Given the description of an element on the screen output the (x, y) to click on. 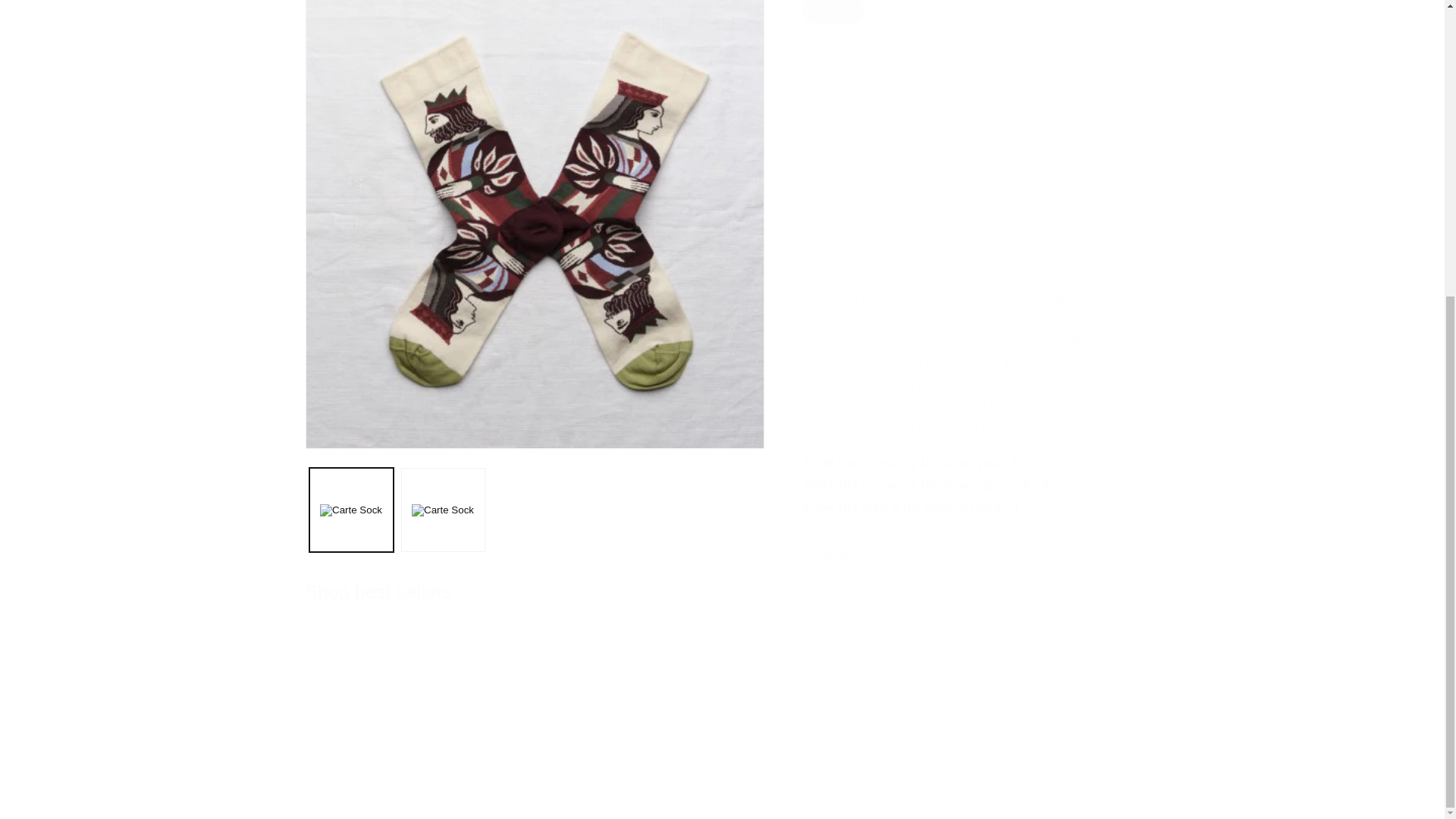
1 (856, 61)
Shop best sellers (377, 591)
Open media 1 in modal (533, 62)
